Given the description of an element on the screen output the (x, y) to click on. 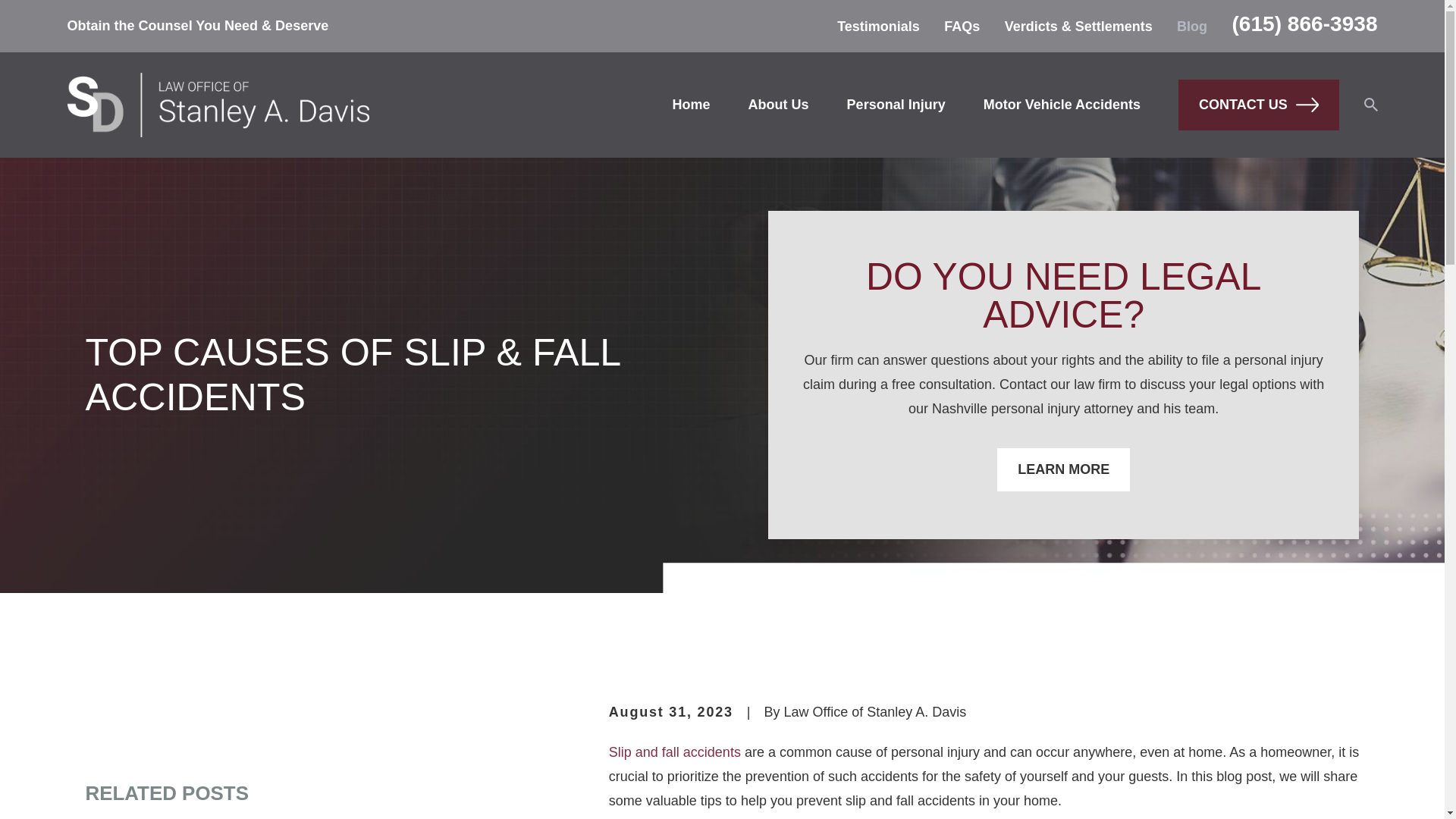
Home (217, 104)
About Us (778, 104)
Motor Vehicle Accidents (1062, 104)
Blog (1191, 25)
Personal Injury (895, 104)
Testimonials (878, 25)
FAQs (961, 25)
